Given the description of an element on the screen output the (x, y) to click on. 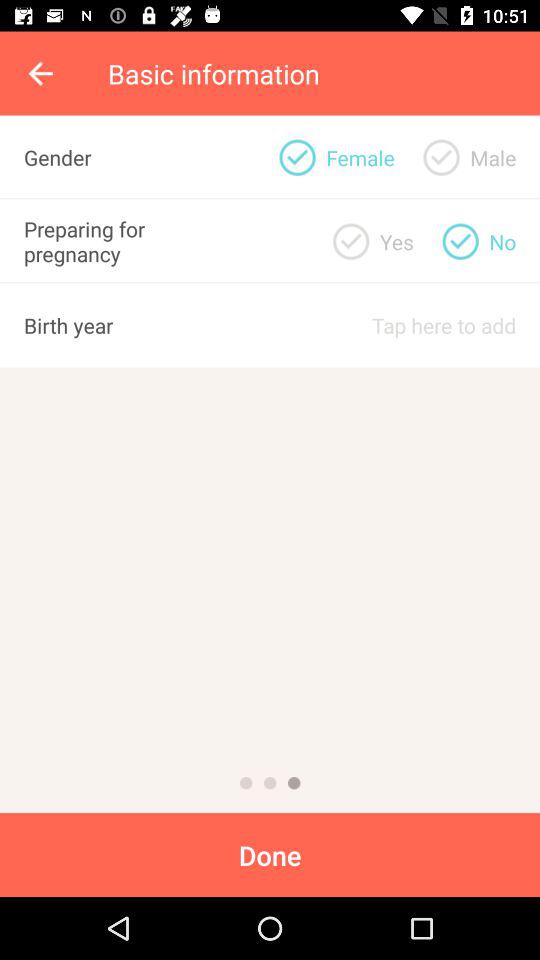
go back (42, 73)
